Given the description of an element on the screen output the (x, y) to click on. 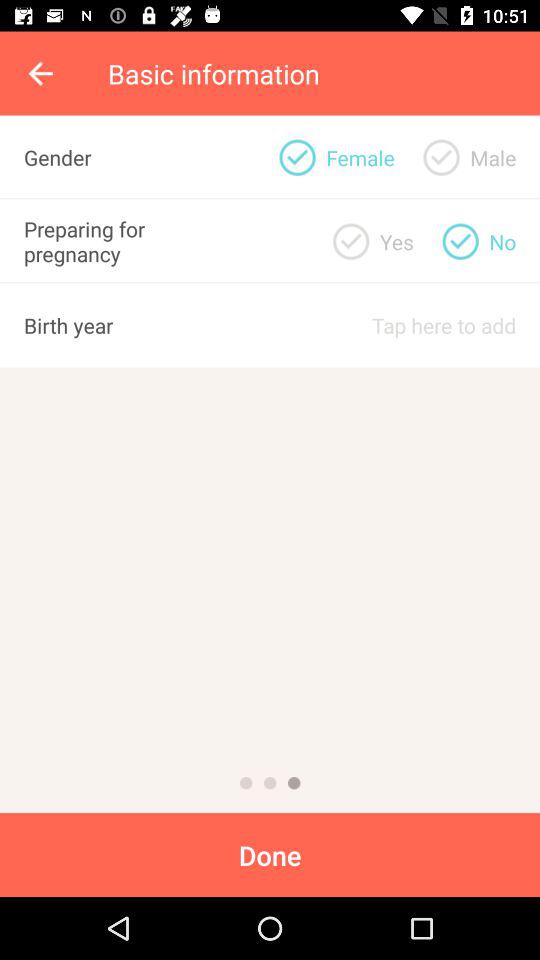
go back (42, 73)
